Given the description of an element on the screen output the (x, y) to click on. 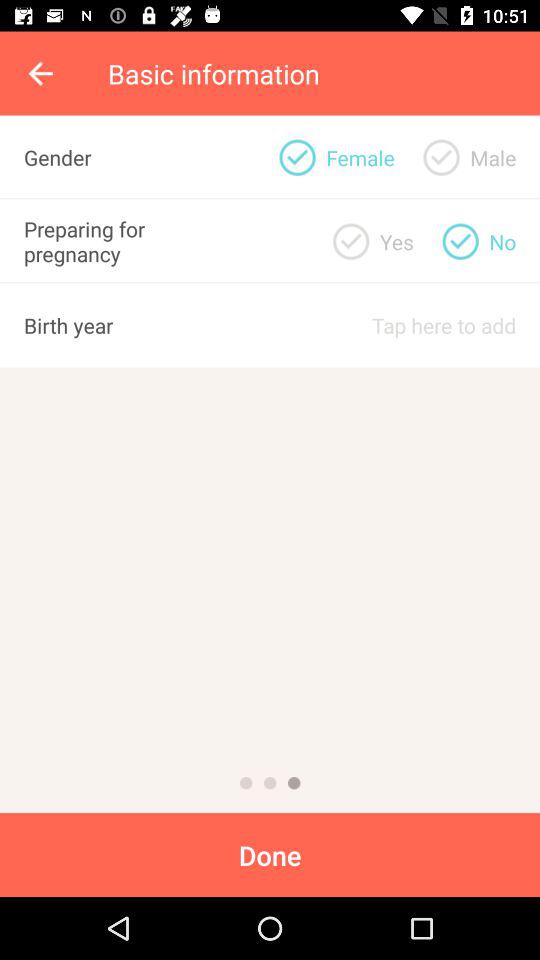
go back (42, 73)
